Given the description of an element on the screen output the (x, y) to click on. 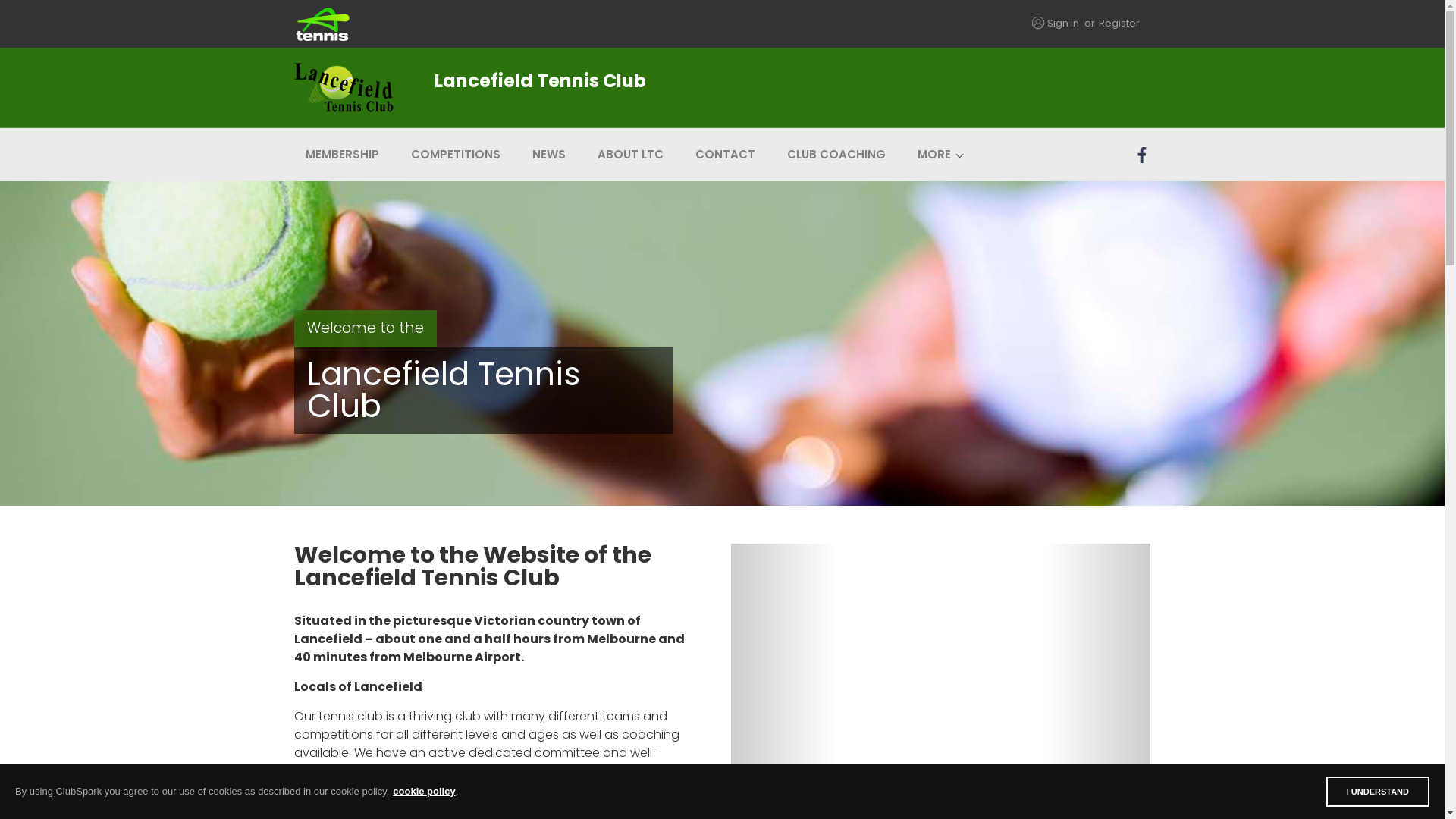
I UNDERSTAND Element type: text (1377, 791)
NEWS Element type: text (548, 154)
cookie policy Element type: text (423, 791)
Sign in Element type: text (1062, 22)
Facebook Element type: text (1143, 154)
CLUB COACHING Element type: text (835, 154)
ClubSpark Element type: text (508, 23)
COMPETITIONS Element type: text (454, 154)
Previous Element type: text (749, 684)
Register Element type: text (1118, 22)
Next Element type: text (1131, 684)
MORE Element type: text (933, 154)
Lancefield Tennis Club Element type: text (594, 87)
CONTACT Element type: text (725, 154)
MEMBERSHIP Element type: text (342, 154)
ABOUT LTC Element type: text (629, 154)
